Given the description of an element on the screen output the (x, y) to click on. 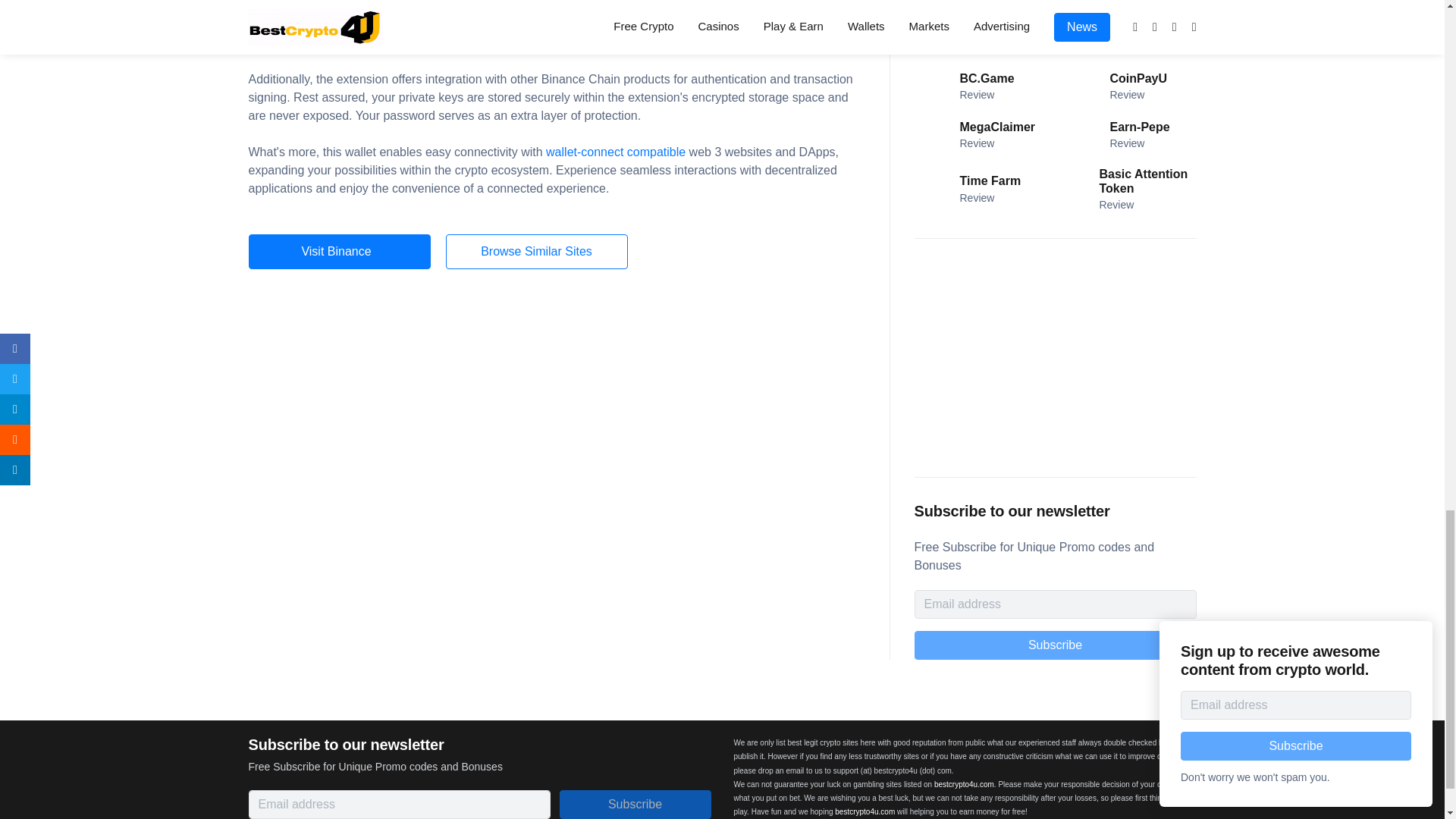
Browse Similar Sites (536, 251)
Visit Binance (339, 251)
wallet-connect compatible (615, 151)
Subscribe (1055, 645)
